Given the description of an element on the screen output the (x, y) to click on. 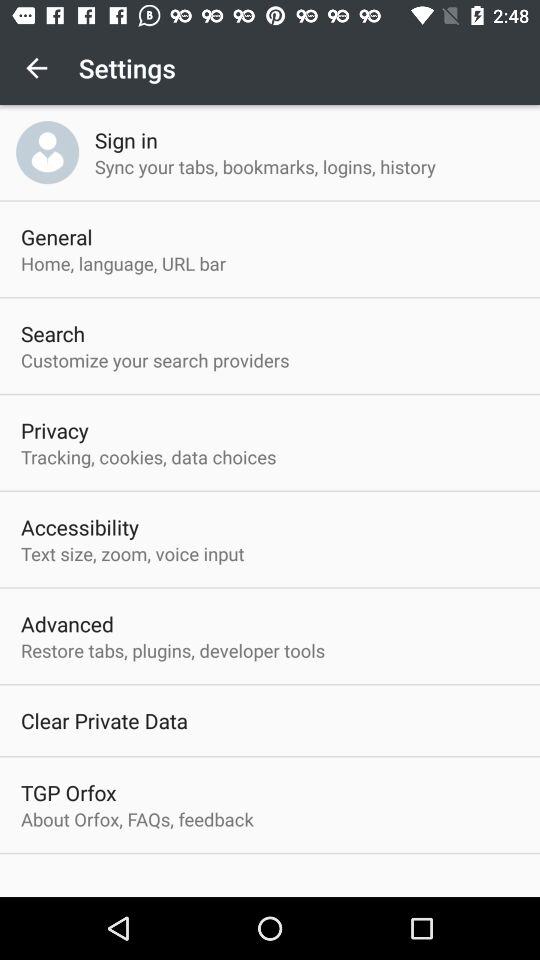
select the icon below the settings app (125, 139)
